Given the description of an element on the screen output the (x, y) to click on. 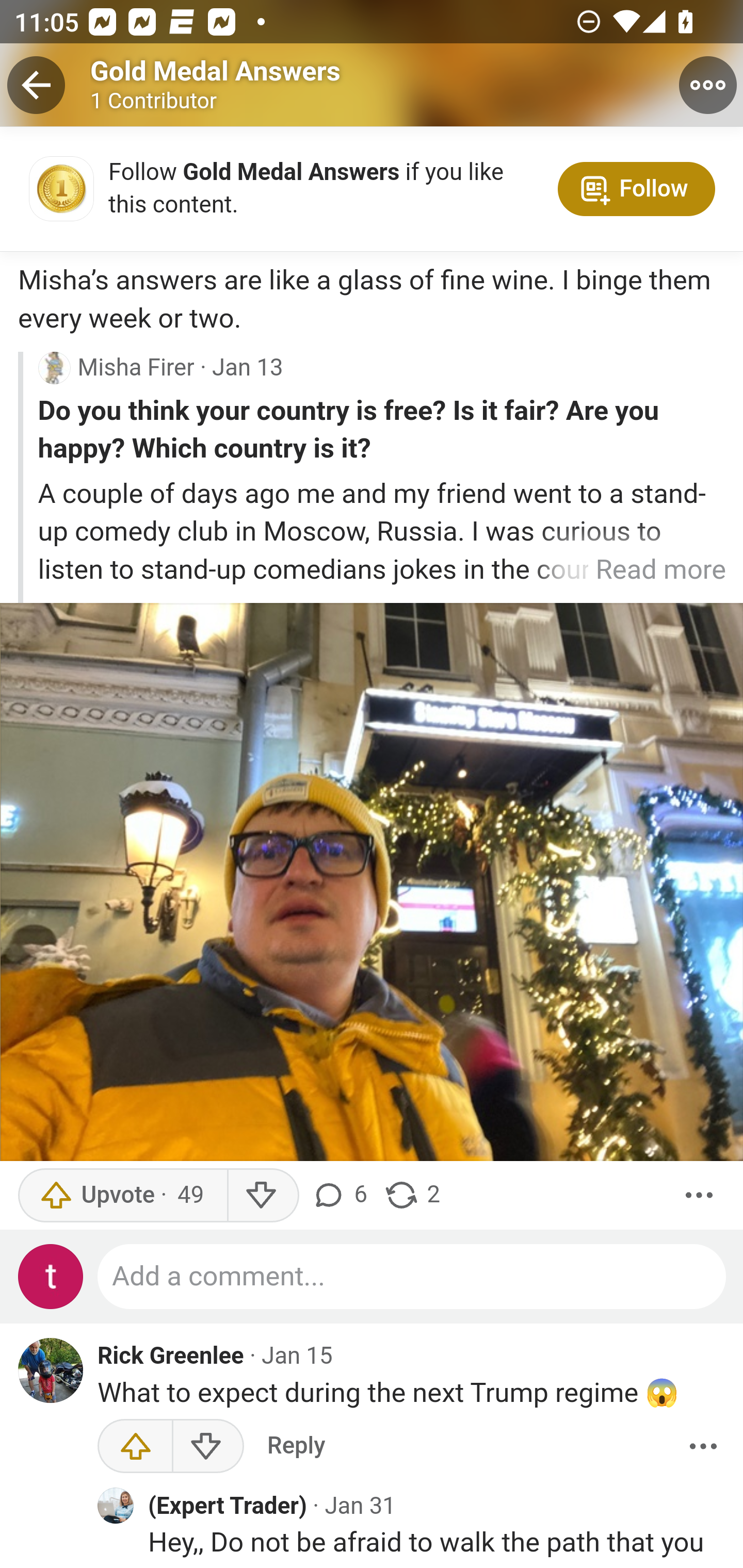
Profile photo for Misha Firer (54, 368)
Upvote (122, 1196)
Downvote (262, 1196)
6 comments (342, 1196)
2 shares (411, 1196)
More (699, 1196)
Profile photo for Test Appium (50, 1276)
Add a comment... (412, 1276)
Profile photo for Rick Greenlee (50, 1370)
Rick Greenlee (171, 1356)
Upvote (135, 1446)
Downvote (207, 1446)
Reply (295, 1446)
More (703, 1446)
Profile photo for (Expert Trader) (115, 1506)
(Expert Trader) (226, 1506)
